Given the description of an element on the screen output the (x, y) to click on. 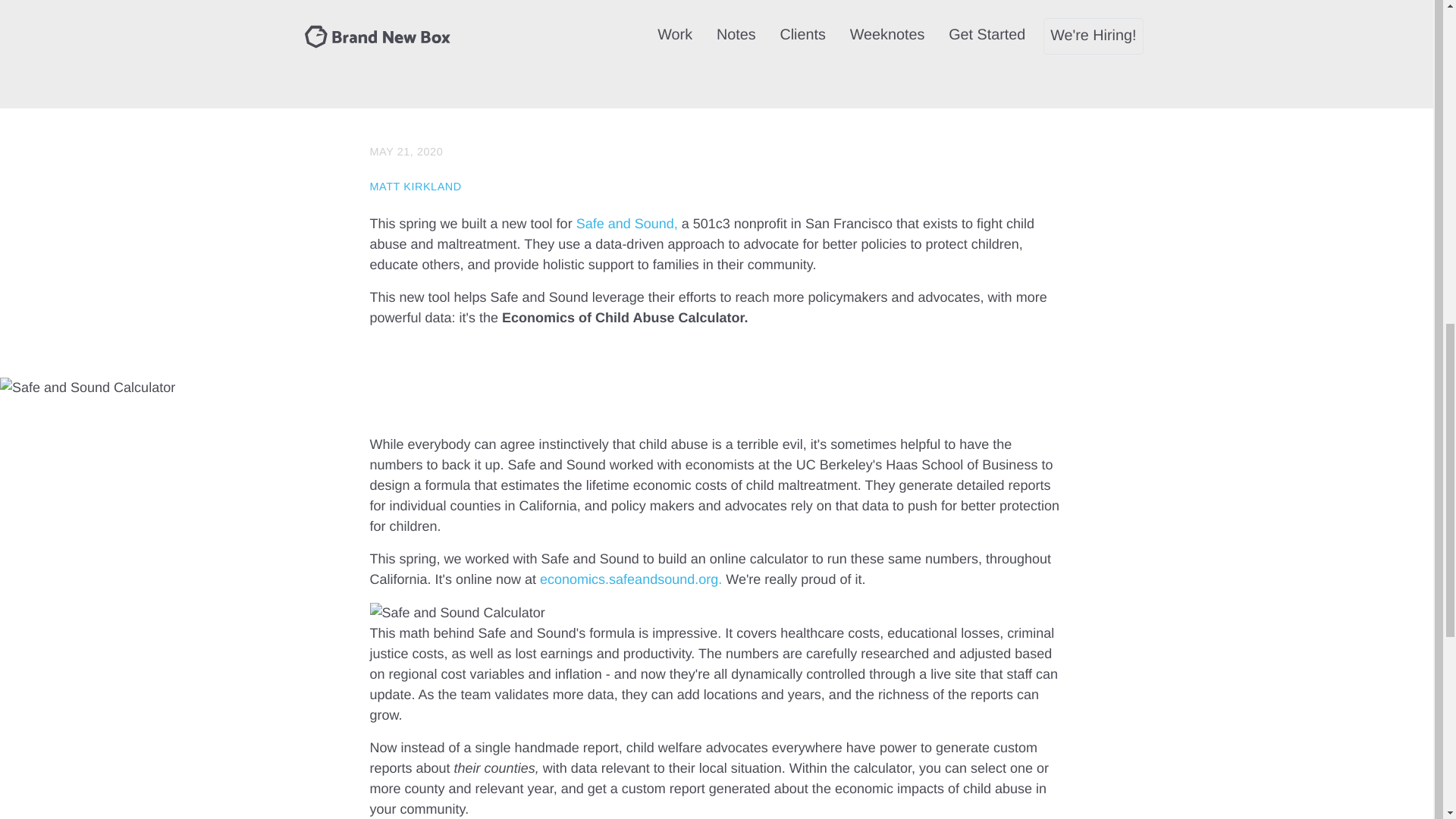
Safe and Sound, (627, 223)
economics.safeandsound.org. (631, 579)
MATT KIRKLAND (415, 186)
